Given the description of an element on the screen output the (x, y) to click on. 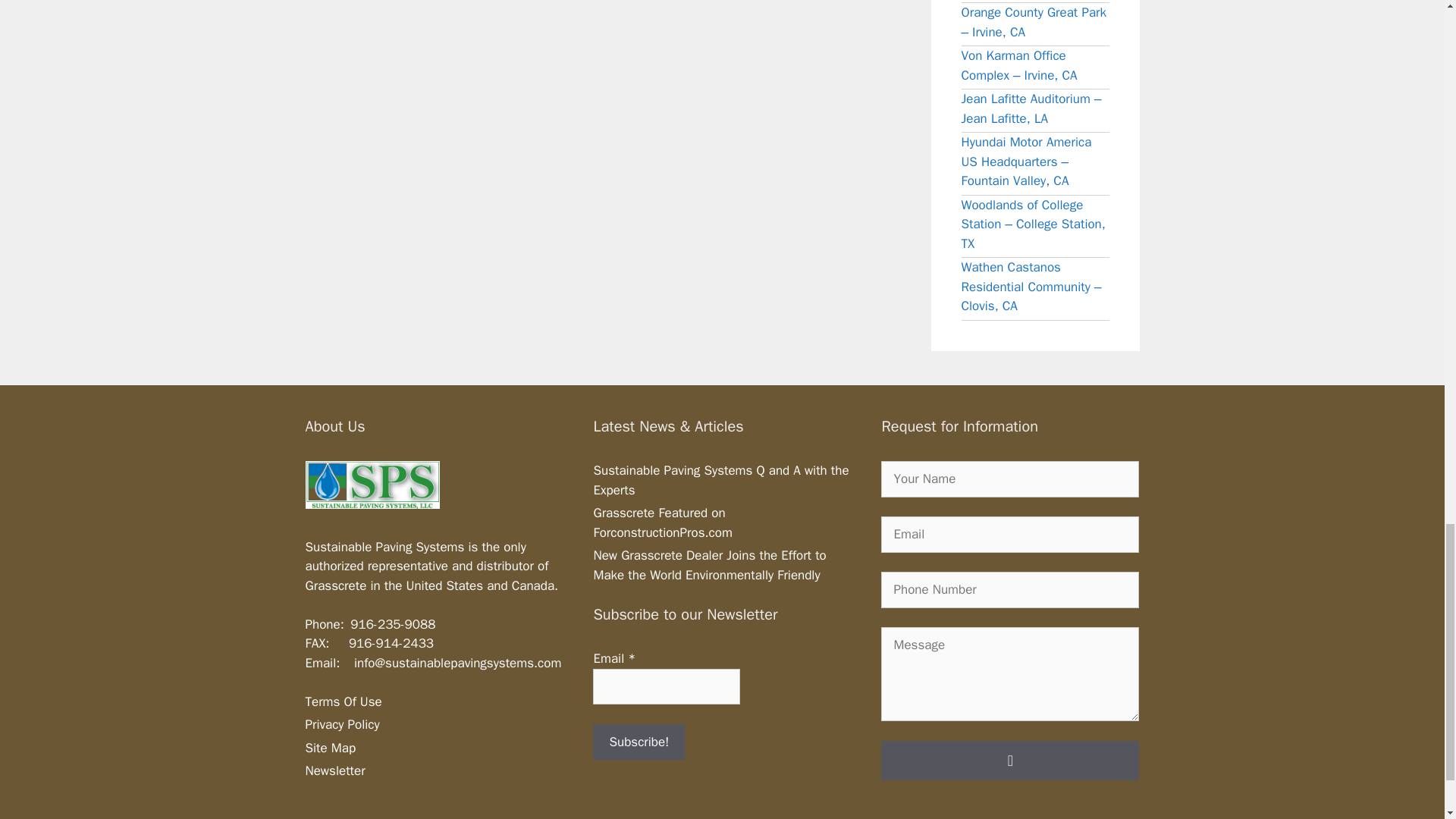
Subscribe! (638, 741)
